Given the description of an element on the screen output the (x, y) to click on. 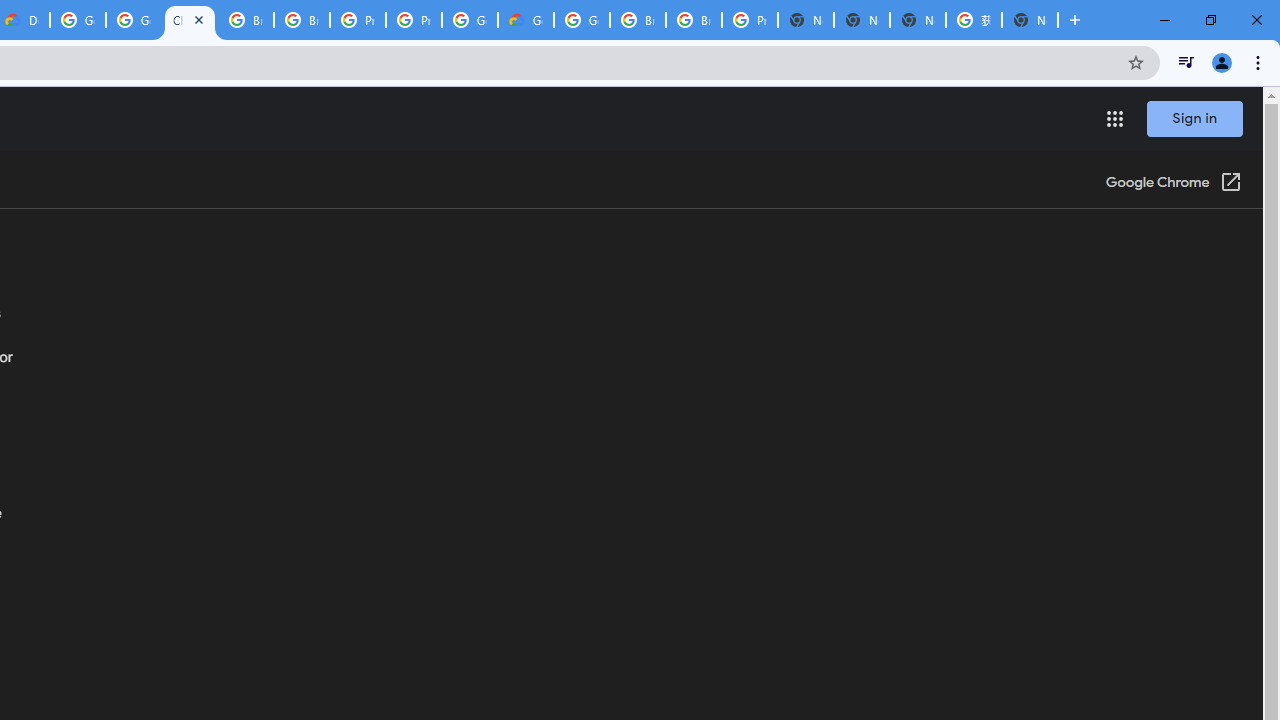
Browse Chrome as a guest - Computer - Google Chrome Help (637, 20)
Control your music, videos, and more (1185, 62)
Browse Chrome as a guest - Computer - Google Chrome Help (693, 20)
New Tab (806, 20)
Browse Chrome as a guest - Computer - Google Chrome Help (245, 20)
